Given the description of an element on the screen output the (x, y) to click on. 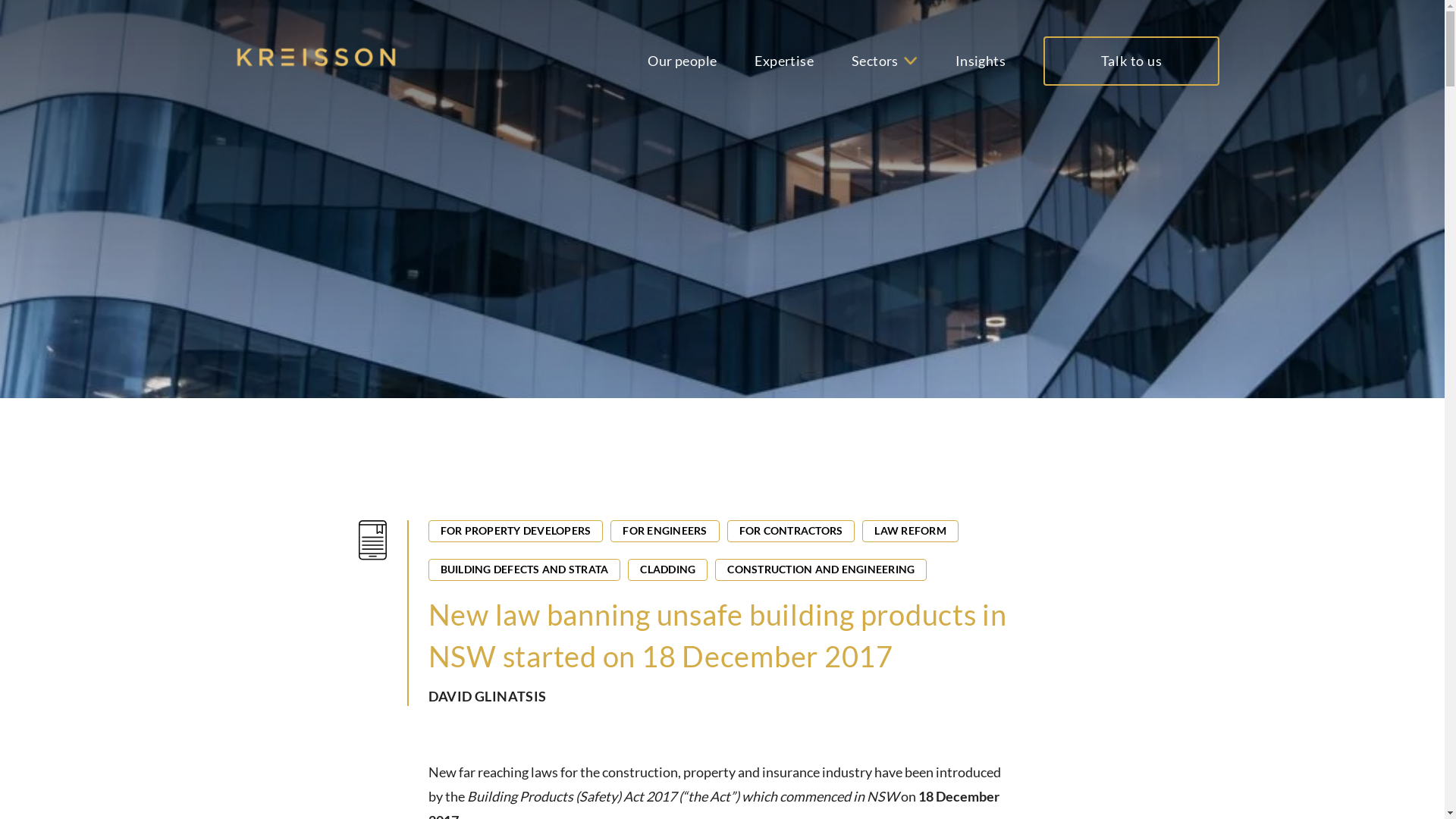
CONSTRUCTION AND ENGINEERING Element type: text (820, 569)
CLADDING Element type: text (667, 569)
Insights Element type: text (980, 60)
Expertise Element type: text (783, 60)
Talk to us Element type: text (1131, 60)
Sectors Element type: text (874, 60)
Our people Element type: text (681, 60)
FOR PROPERTY DEVELOPERS Element type: text (514, 531)
LAW REFORM Element type: text (910, 531)
Kreisson Element type: hover (316, 57)
FOR CONTRACTORS Element type: text (790, 531)
BUILDING DEFECTS AND STRATA Element type: text (523, 569)
FOR ENGINEERS Element type: text (664, 531)
